Given the description of an element on the screen output the (x, y) to click on. 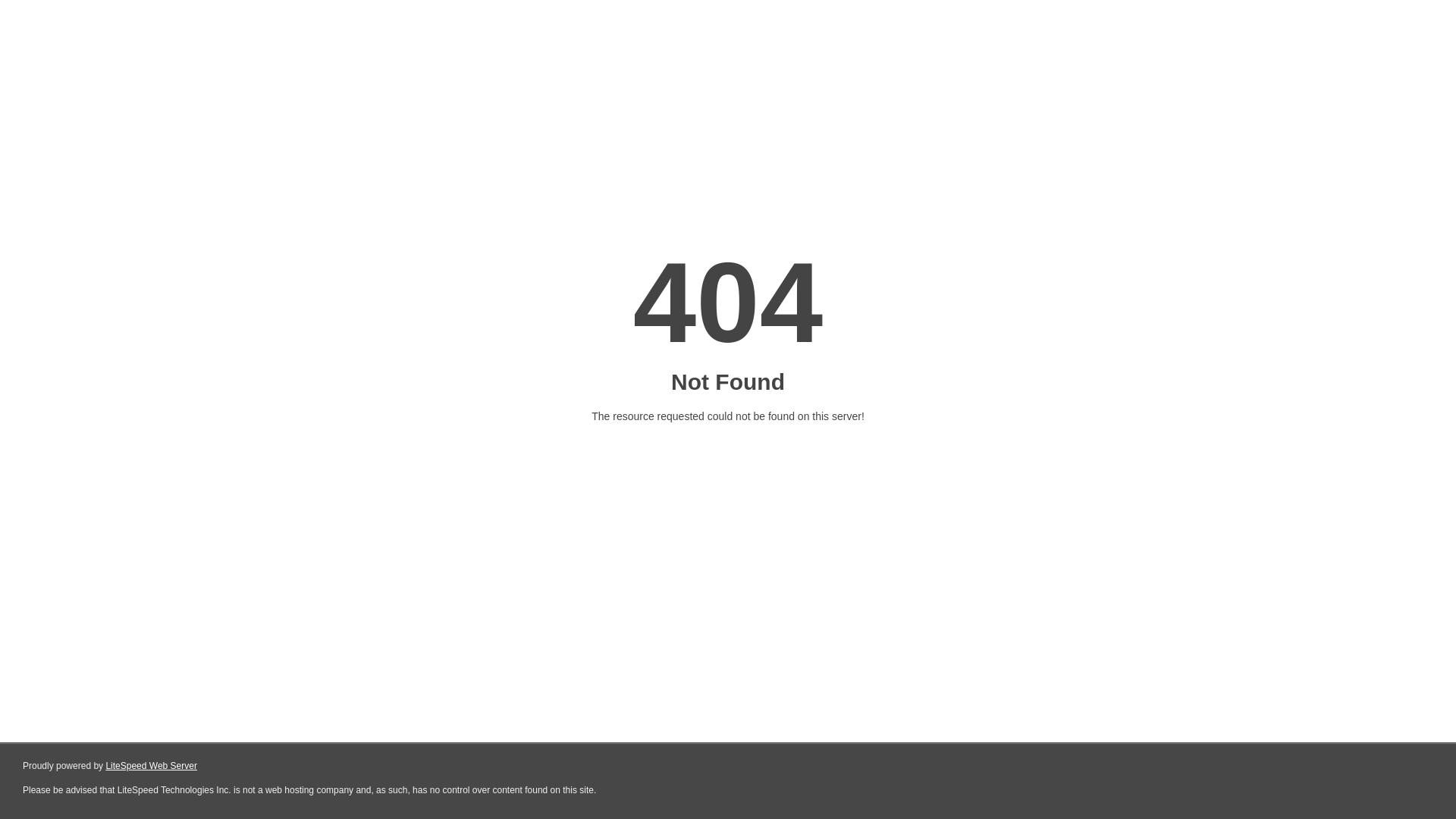
LiteSpeed Web Server Element type: text (151, 765)
